Given the description of an element on the screen output the (x, y) to click on. 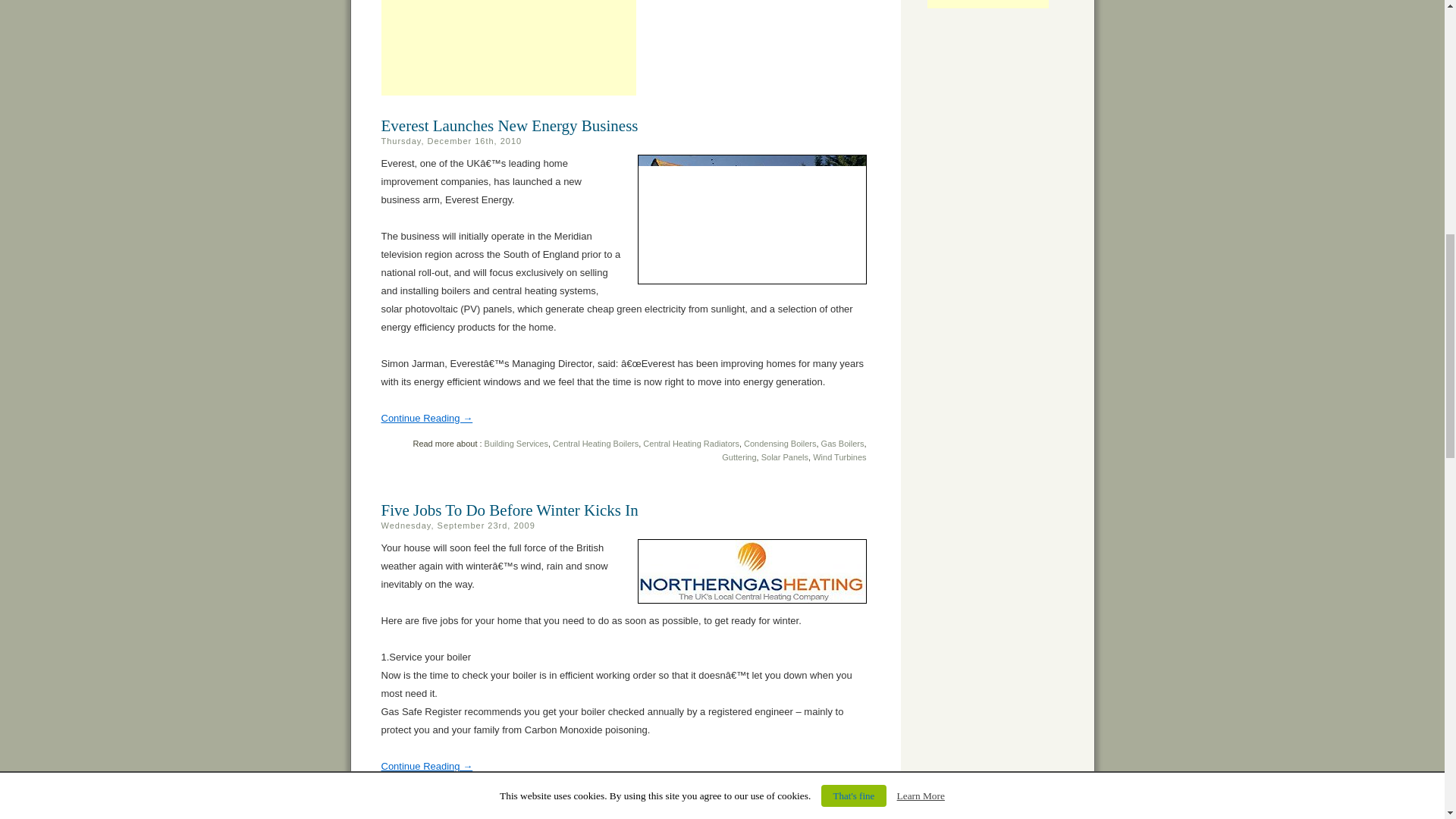
Five Jobs To Do Before Winter Kicks In (508, 510)
Wind Turbines (839, 456)
Advertisement (507, 47)
Gas Boilers (842, 442)
Permalink to Everest Launches New Energy Business (508, 126)
Central Heating Boilers (596, 442)
Everest Launches New Energy Business (425, 418)
Building Services (516, 442)
Everest Launches New Energy Business (508, 126)
Central Heating Radiators (691, 442)
